Given the description of an element on the screen output the (x, y) to click on. 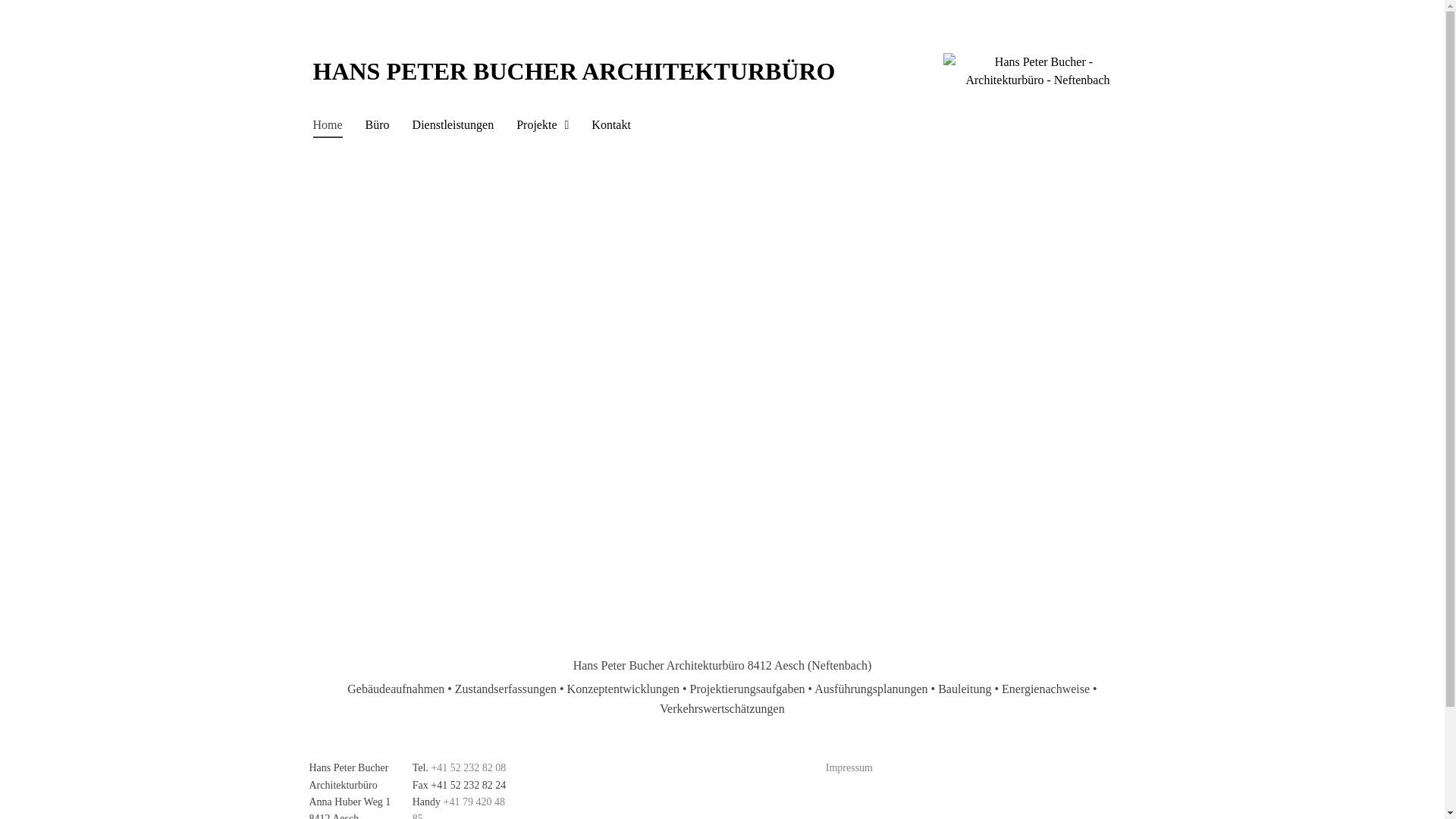
Home Element type: text (327, 126)
Kontakt Element type: text (610, 126)
Impressum Element type: text (848, 767)
+41 52 232 82 08 Element type: text (467, 767)
Dienstleistungen Element type: text (453, 126)
Projekte Element type: text (542, 126)
